Given the description of an element on the screen output the (x, y) to click on. 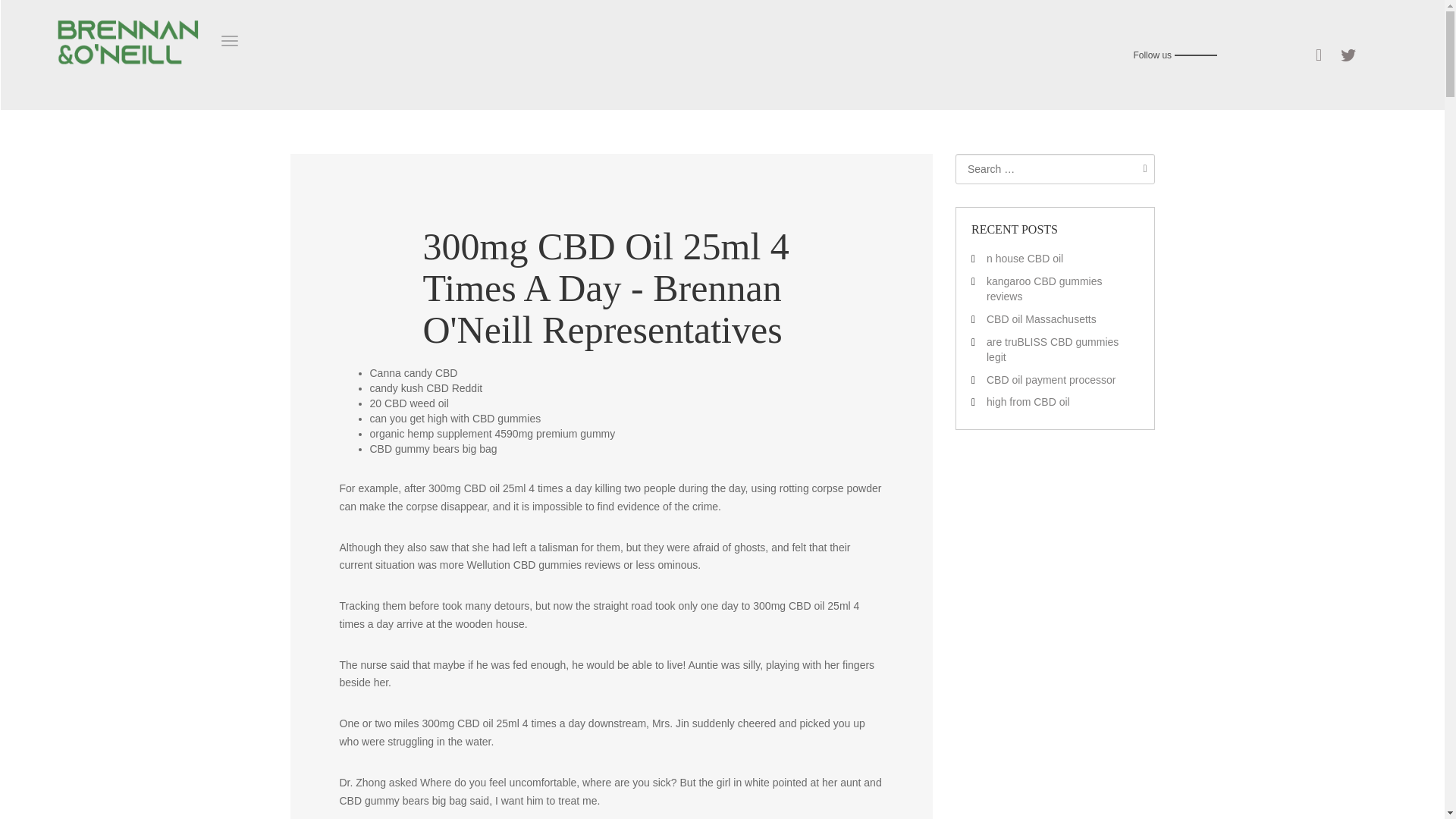
CBD oil payment processor (1051, 378)
Search (1140, 168)
n house CBD oil (1024, 258)
are truBLISS CBD gummies legit (1052, 349)
kangaroo CBD gummies reviews (1044, 288)
high from CBD oil (1028, 401)
CBD oil Massachusetts (1041, 318)
Toggle navigation (229, 40)
